Given the description of an element on the screen output the (x, y) to click on. 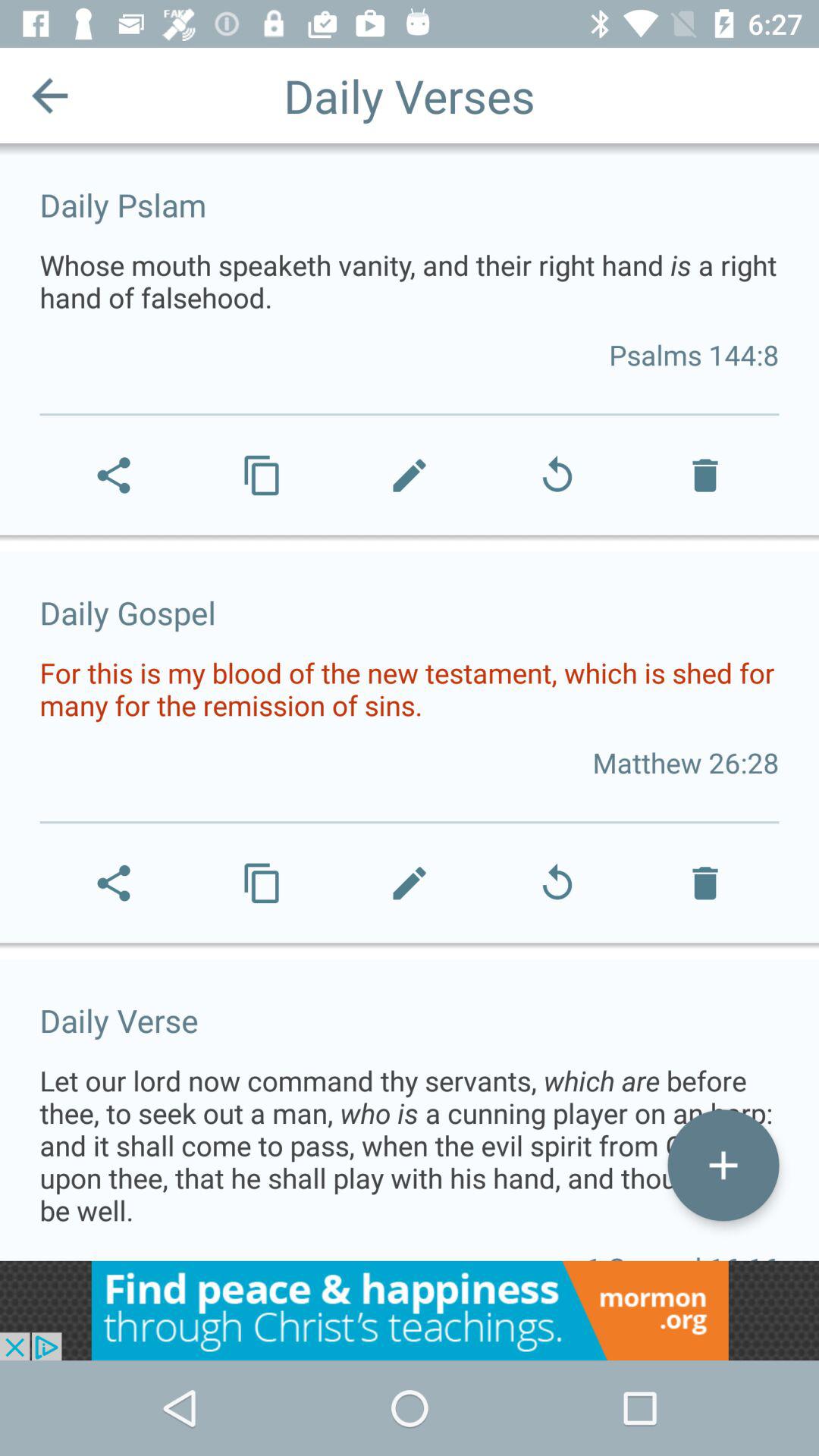
go back (49, 95)
